Given the description of an element on the screen output the (x, y) to click on. 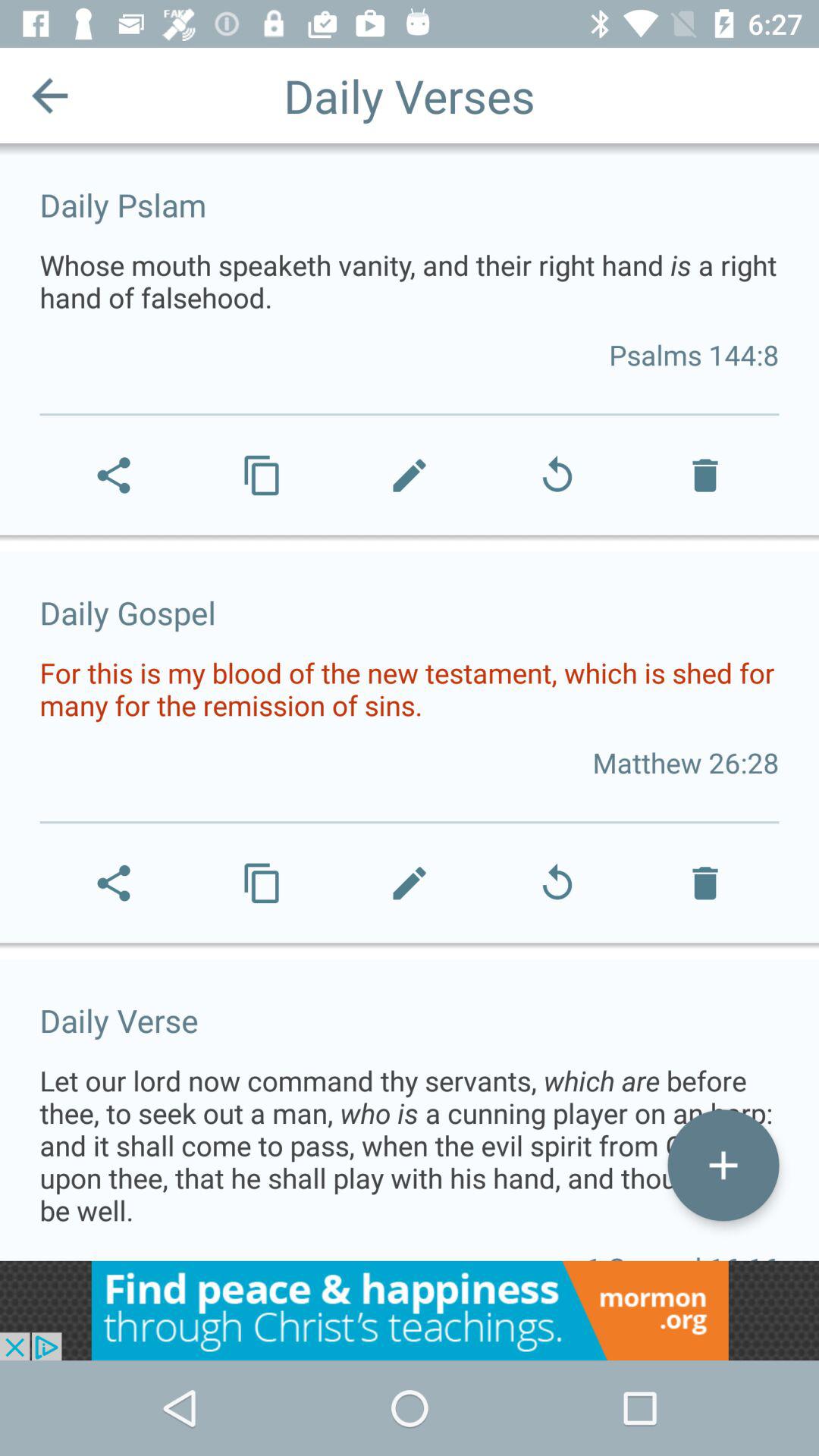
go back (49, 95)
